Given the description of an element on the screen output the (x, y) to click on. 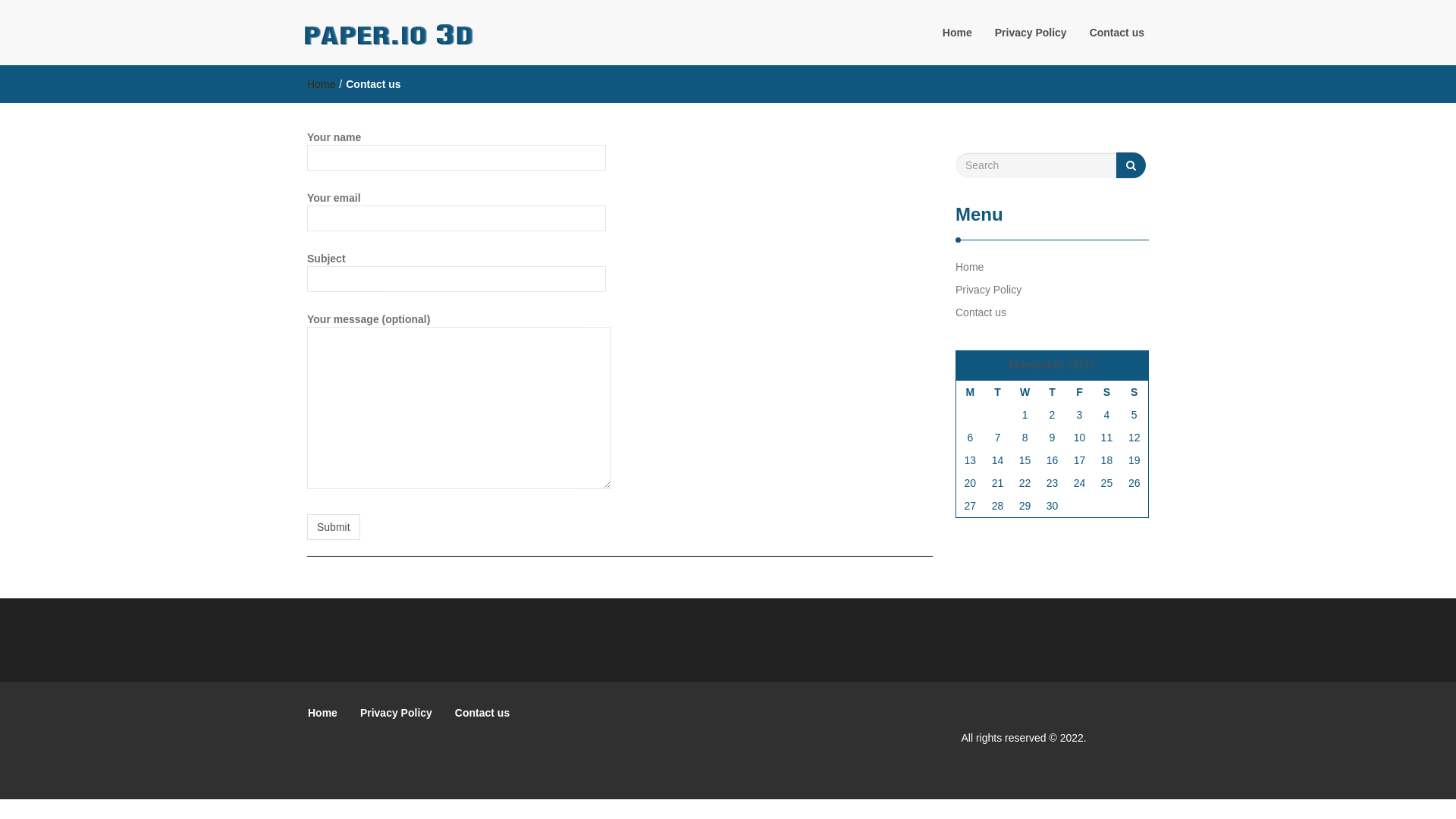
Home Element type: text (957, 32)
Privacy Policy Element type: text (988, 289)
Home Element type: text (969, 266)
Contact us Element type: text (481, 712)
Home Element type: text (322, 712)
Privacy Policy Element type: text (1030, 32)
Submit Element type: text (333, 526)
Contact us Element type: text (980, 312)
Contact us Element type: text (1116, 32)
LiveInternet: number of visitors for today is shown Element type: hover (1122, 738)
Home Element type: text (321, 84)
Privacy Policy Element type: text (395, 712)
